Given the description of an element on the screen output the (x, y) to click on. 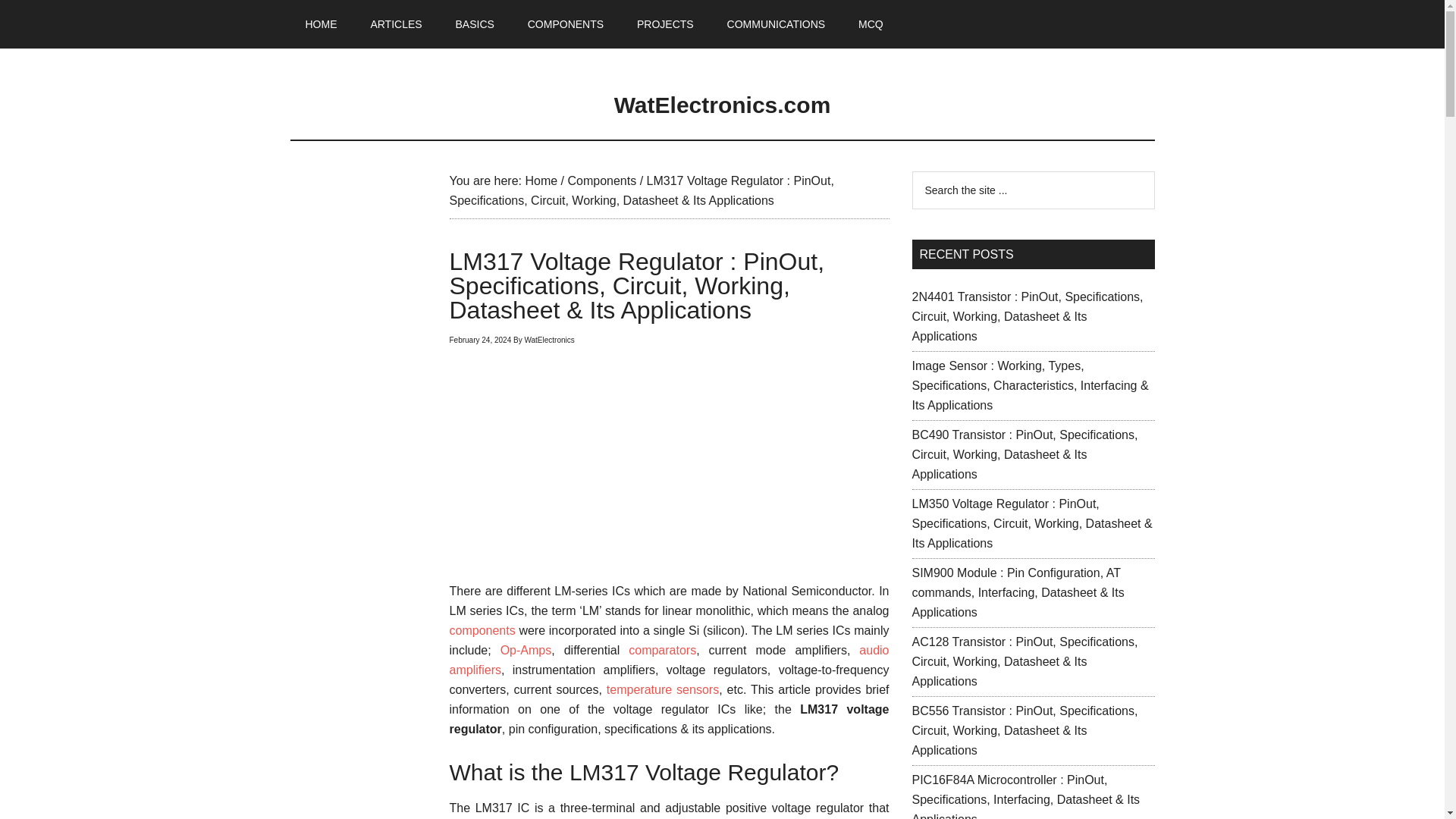
BASICS (473, 24)
temperature sensors (663, 689)
components (481, 630)
Components (601, 180)
Home (540, 180)
PROJECTS (665, 24)
HOME (320, 24)
MCQ (870, 24)
Op-Amps (525, 649)
